Given the description of an element on the screen output the (x, y) to click on. 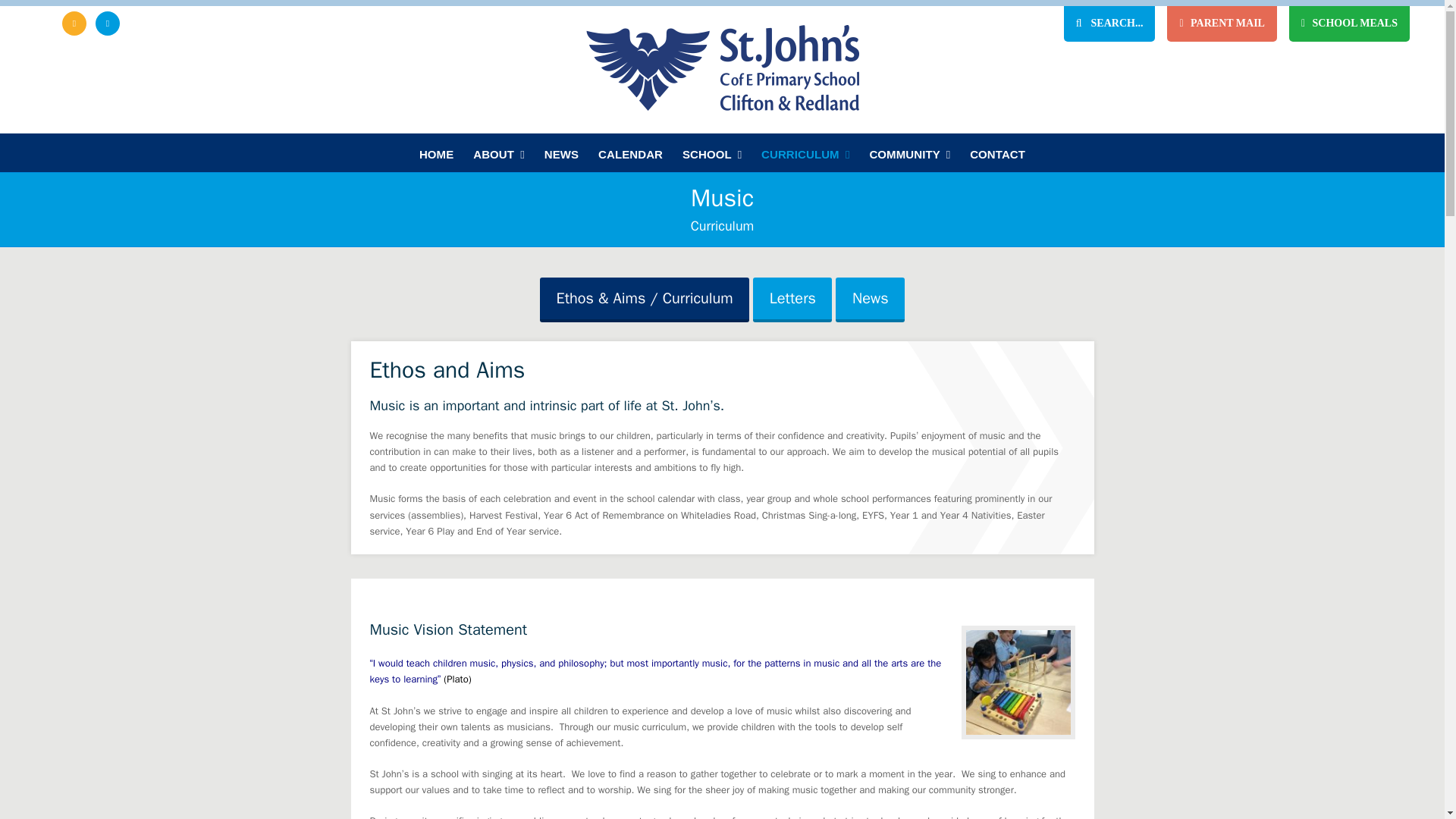
ABOUT (498, 152)
SCHOOL (711, 152)
CALENDAR (630, 152)
HOME (435, 152)
NEWS (560, 152)
CURRICULUM (804, 152)
